Given the description of an element on the screen output the (x, y) to click on. 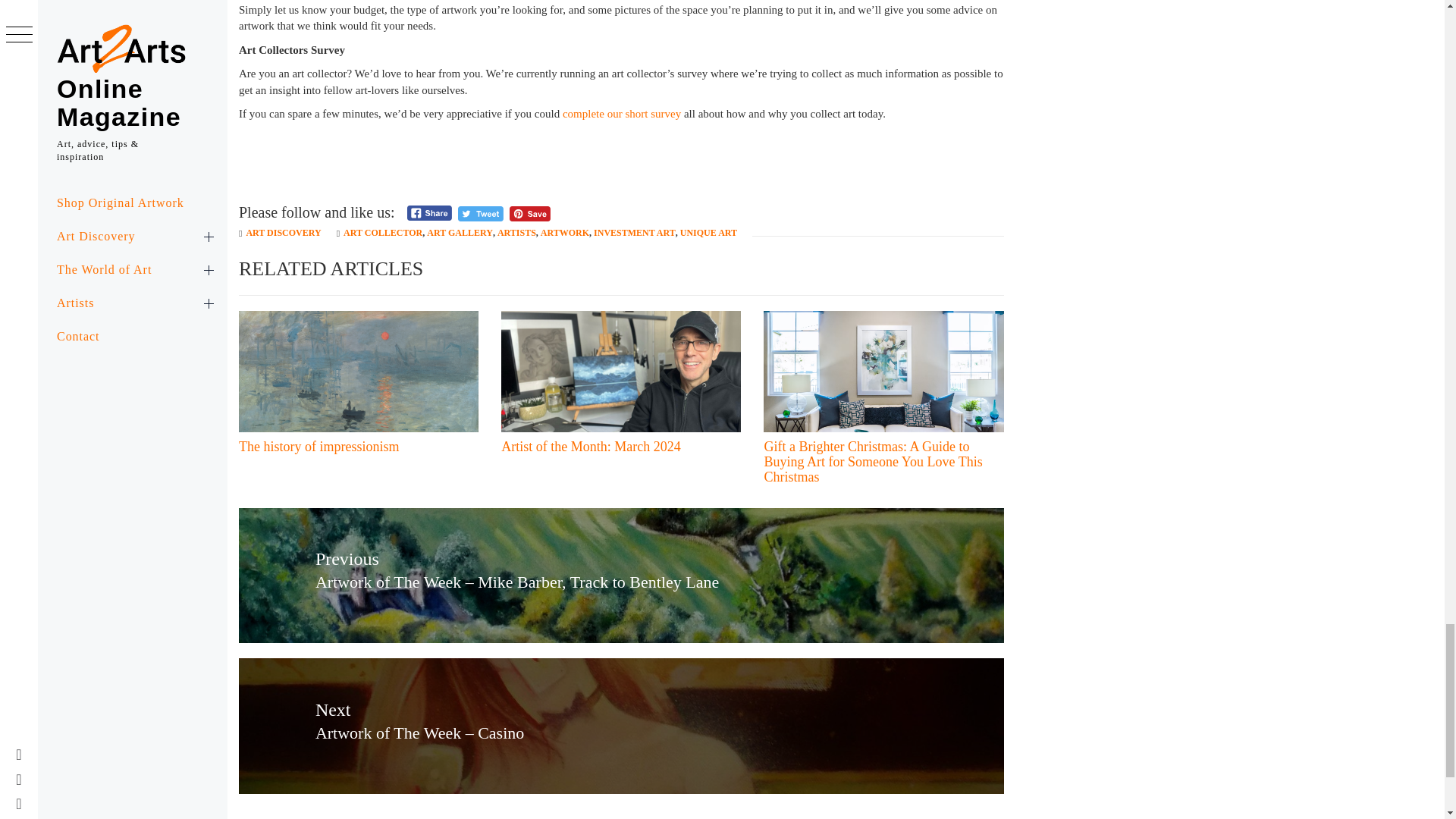
Facebook Share (429, 212)
Tweet (480, 213)
ART DISCOVERY (283, 232)
Pin Share (529, 213)
complete our short survey (621, 113)
